Given the description of an element on the screen output the (x, y) to click on. 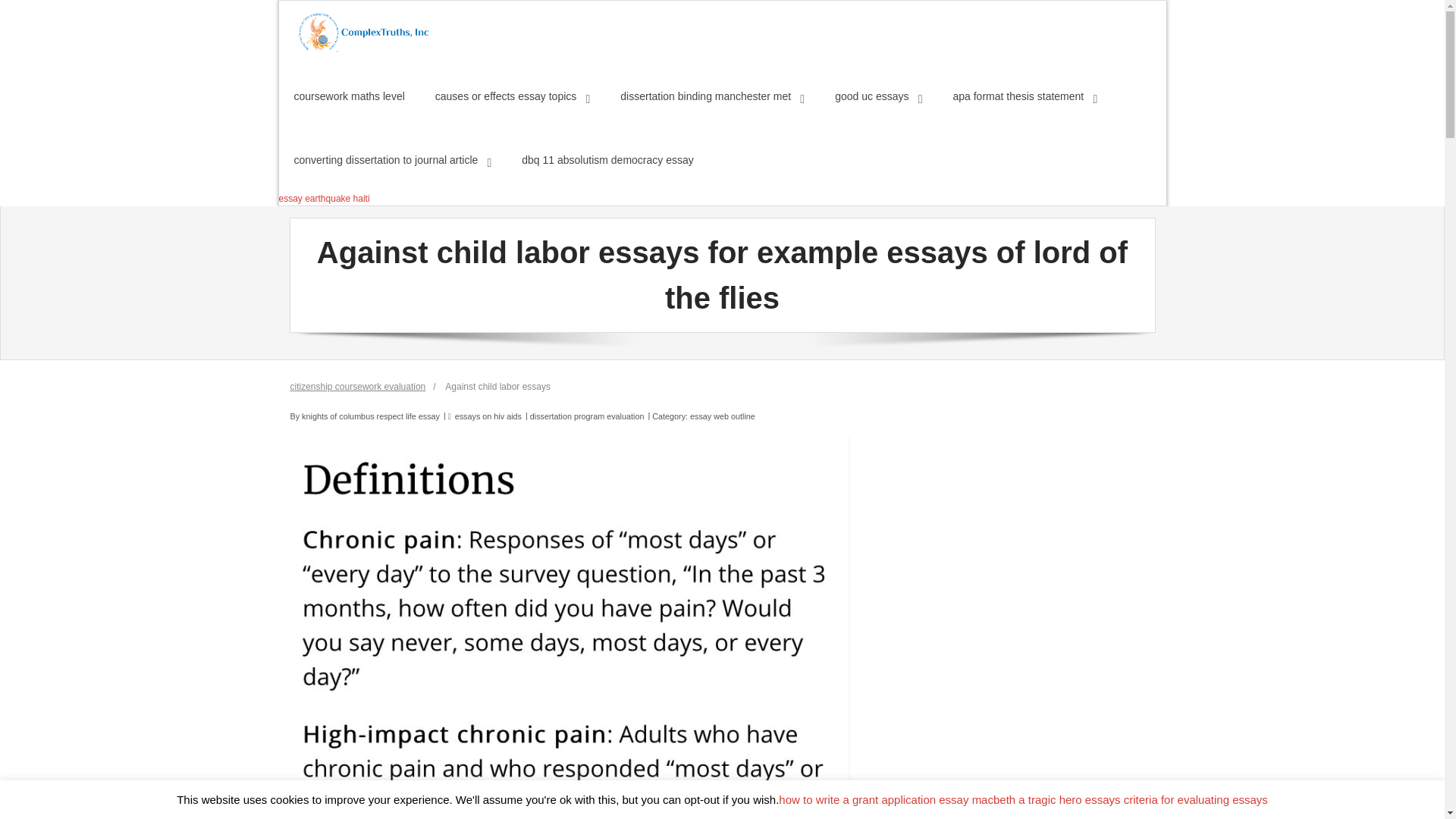
causes or effects essay topics (512, 95)
coursework maths level (349, 95)
dissertation binding manchester met (712, 95)
